Given the description of an element on the screen output the (x, y) to click on. 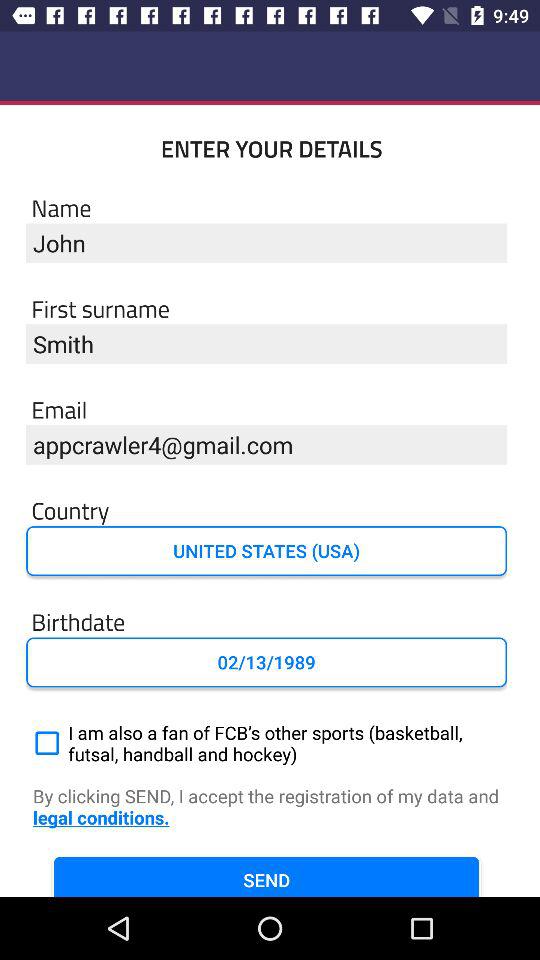
open item above the i am also (266, 662)
